Given the description of an element on the screen output the (x, y) to click on. 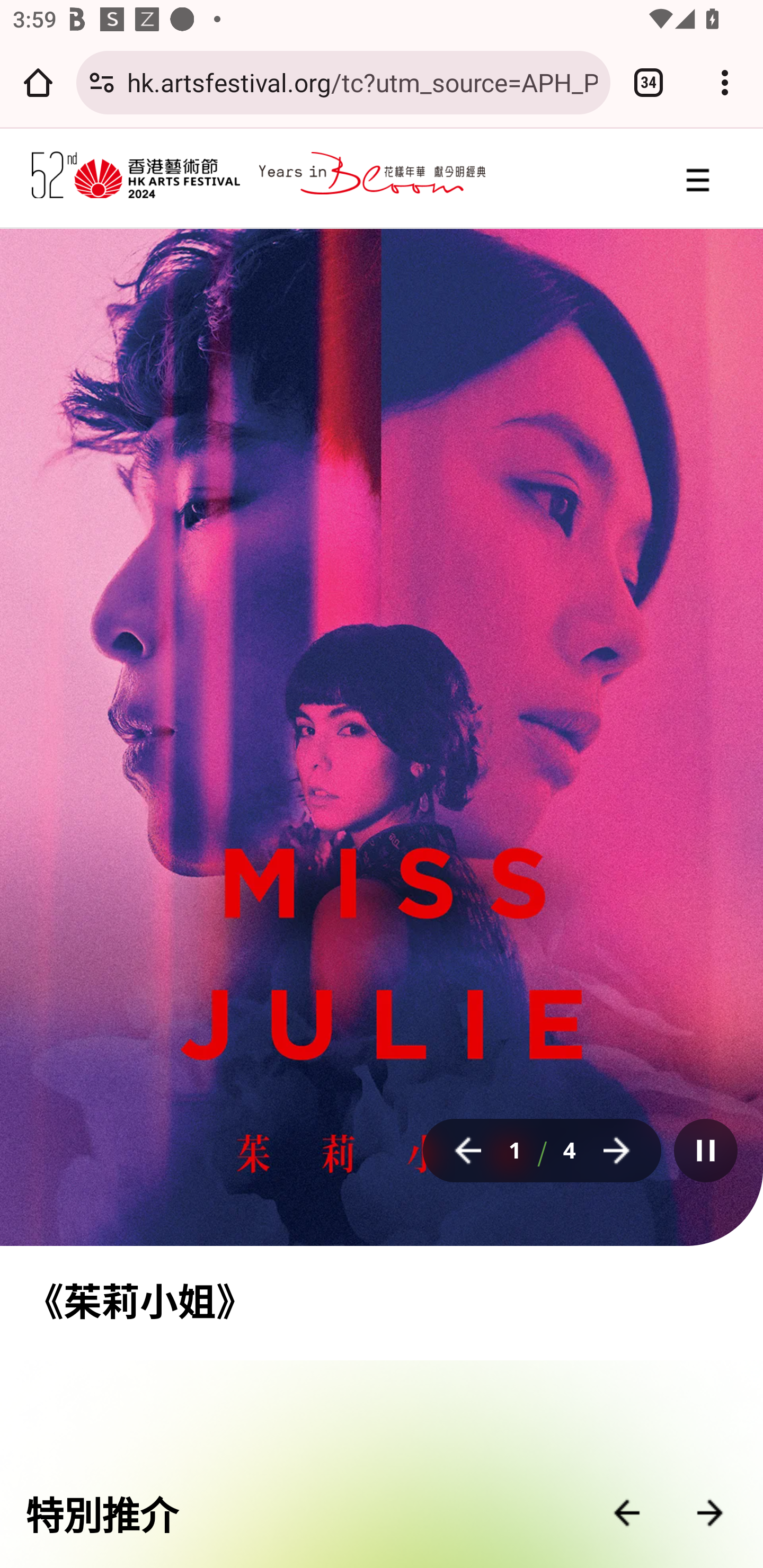
Open the home page (38, 82)
Connection is secure (101, 82)
Switch or close tabs (648, 82)
Customize and control Google Chrome (724, 82)
hkaf_logo_image (136, 176)
